Given the description of an element on the screen output the (x, y) to click on. 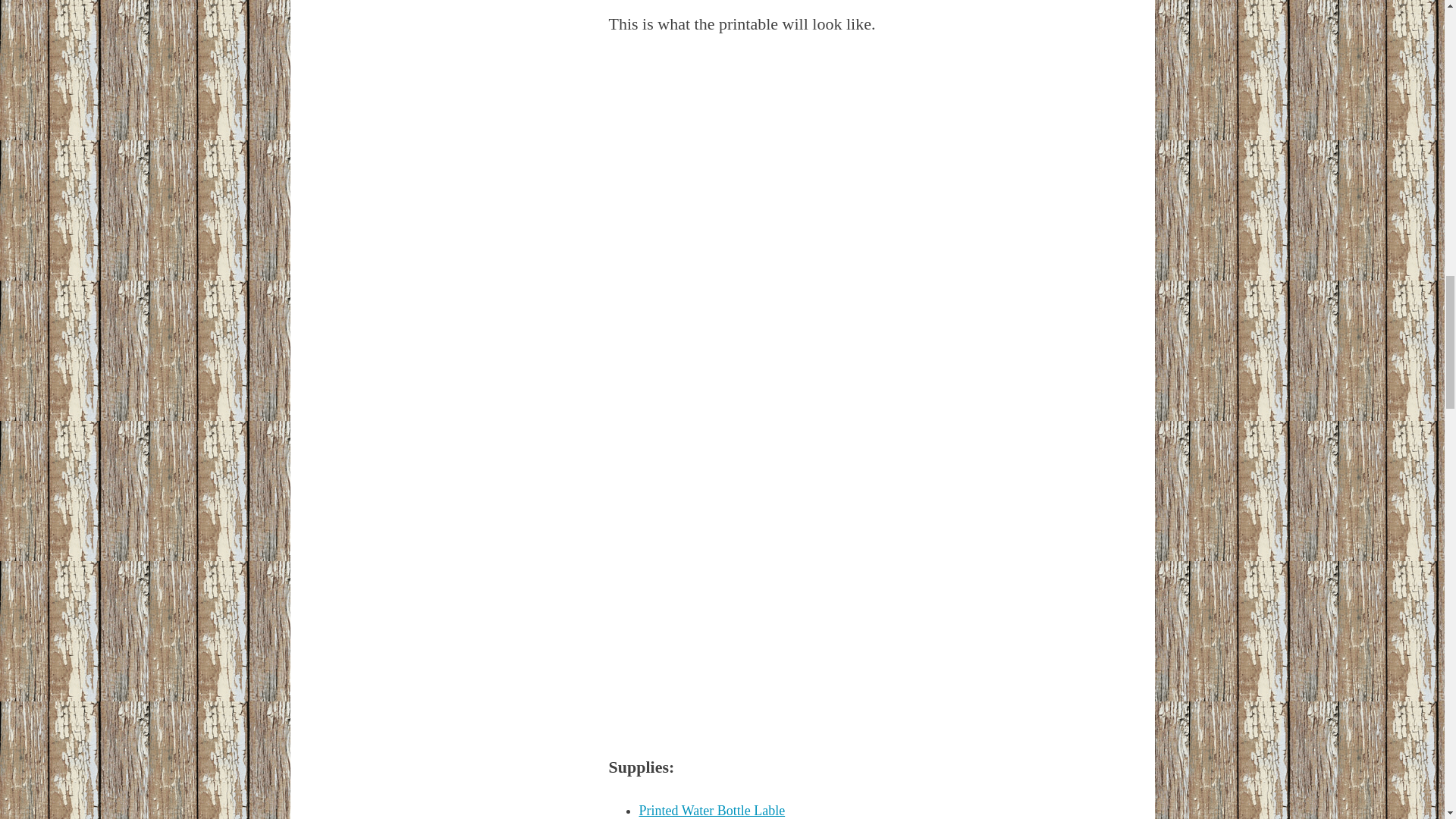
Printed Water Bottle Lable (711, 810)
